Given the description of an element on the screen output the (x, y) to click on. 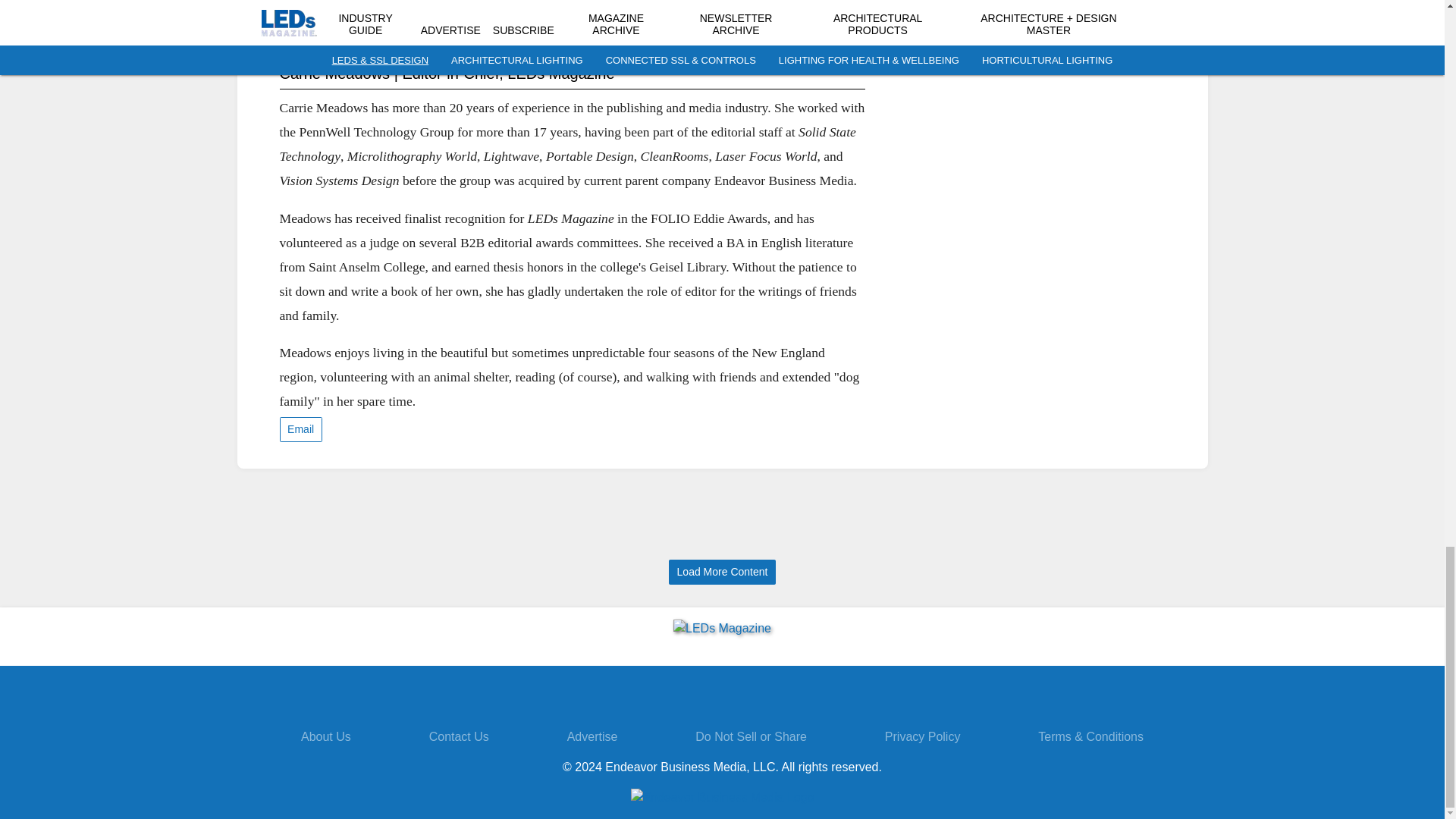
Email (300, 429)
